Given the description of an element on the screen output the (x, y) to click on. 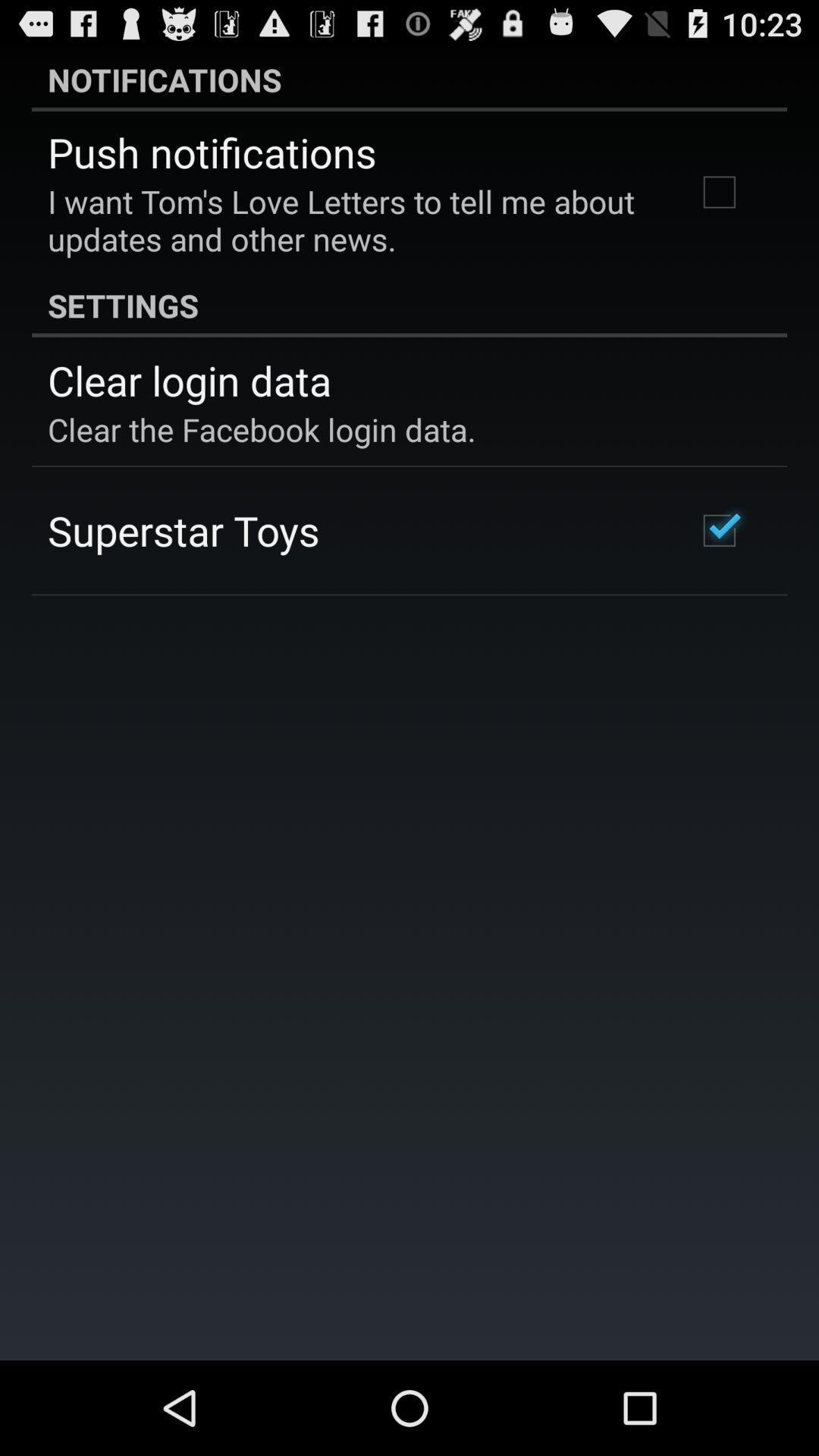
turn off the item above i want tom app (211, 151)
